Given the description of an element on the screen output the (x, y) to click on. 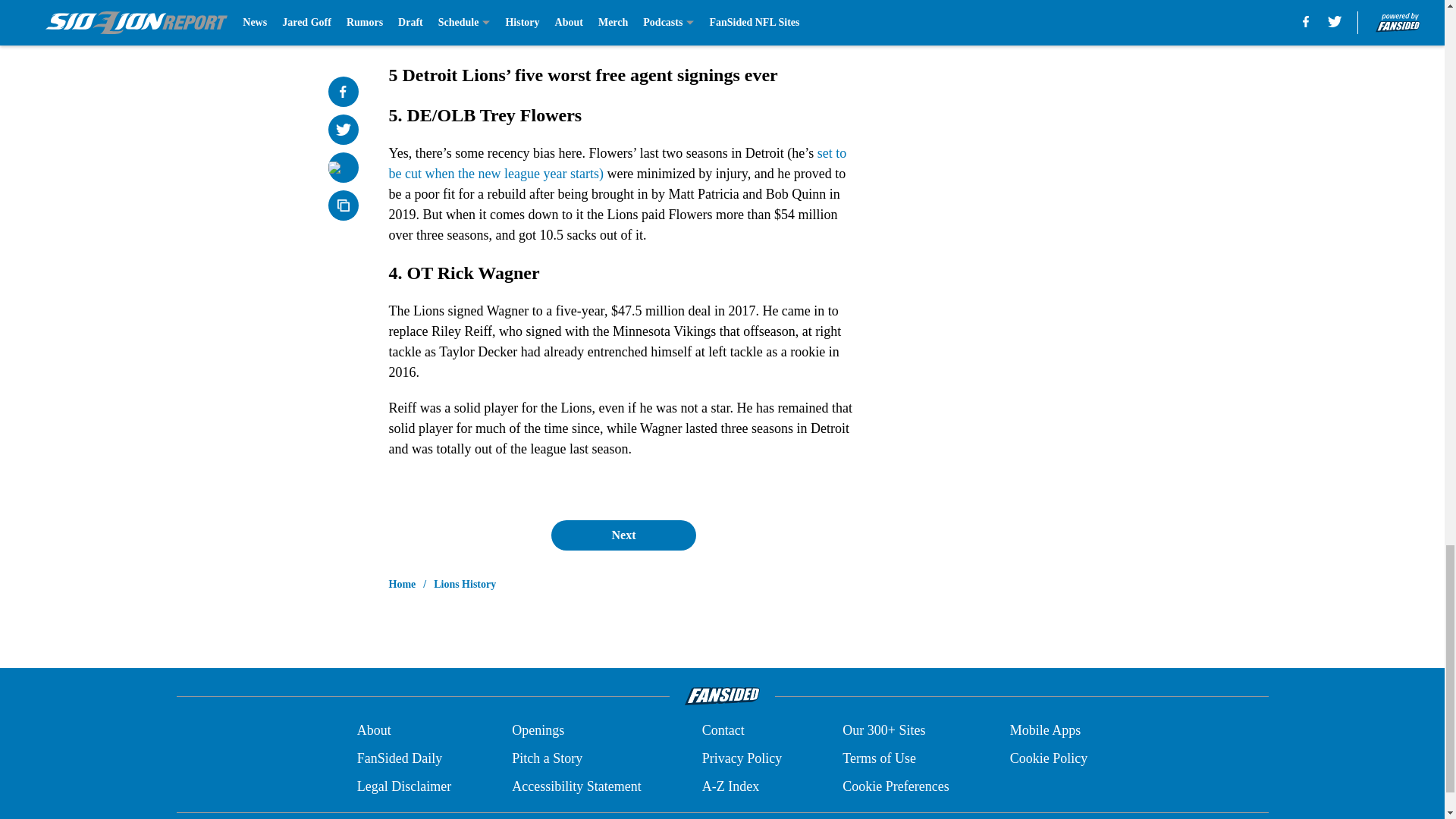
Next (622, 535)
About (373, 730)
Home (401, 584)
FanSided Daily (399, 758)
Privacy Policy (742, 758)
Cookie Policy (1048, 758)
Mobile Apps (1045, 730)
Contact (722, 730)
Lions History (464, 584)
Terms of Use (879, 758)
